Given the description of an element on the screen output the (x, y) to click on. 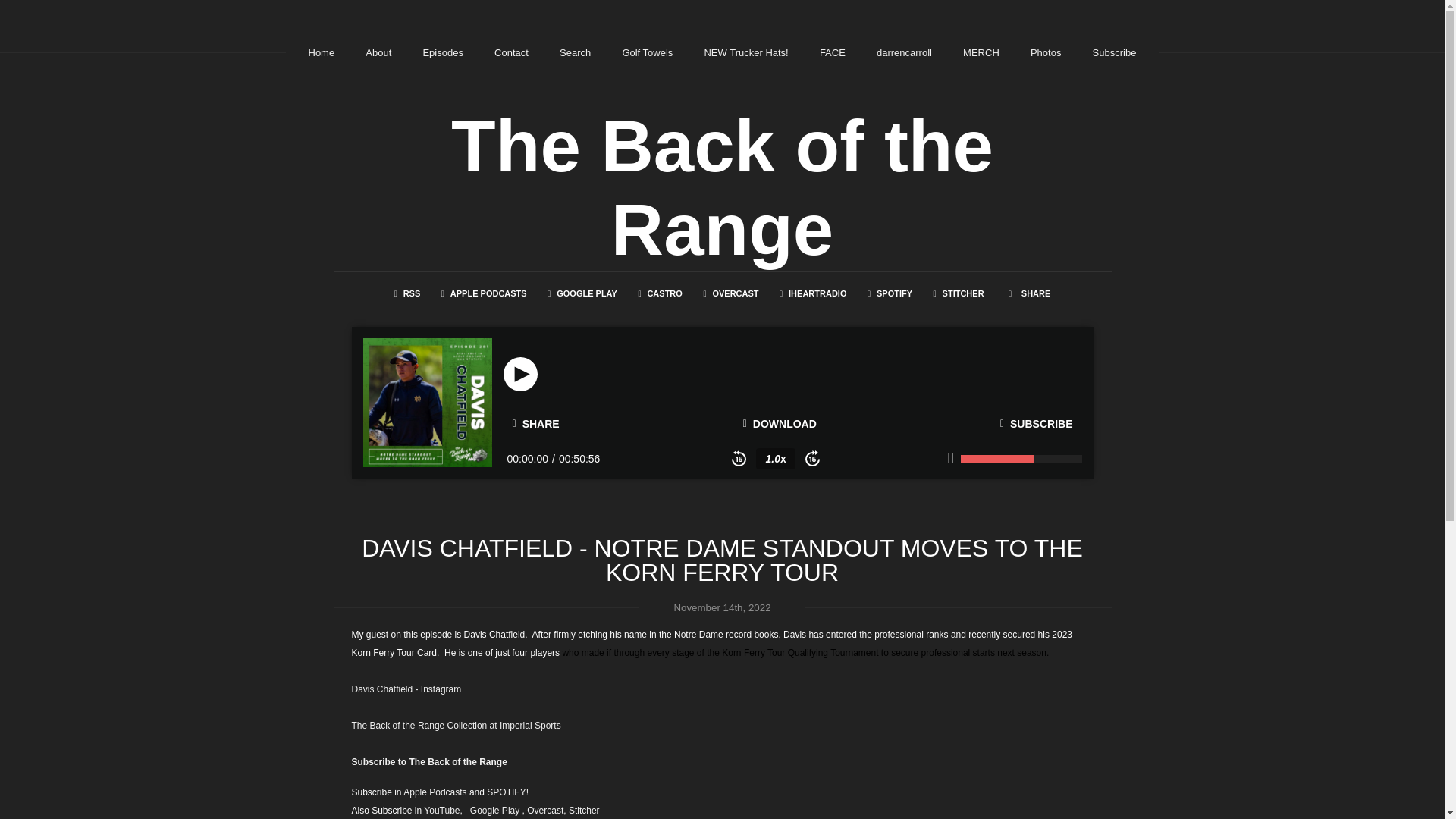
Search (575, 52)
Episodes (442, 52)
MERCH (980, 52)
SPOTIFY (890, 293)
APPLE PODCASTS (483, 293)
Contact (511, 52)
Subscribe (1115, 52)
Home (320, 52)
darrencarroll (903, 52)
About (378, 52)
